Given the description of an element on the screen output the (x, y) to click on. 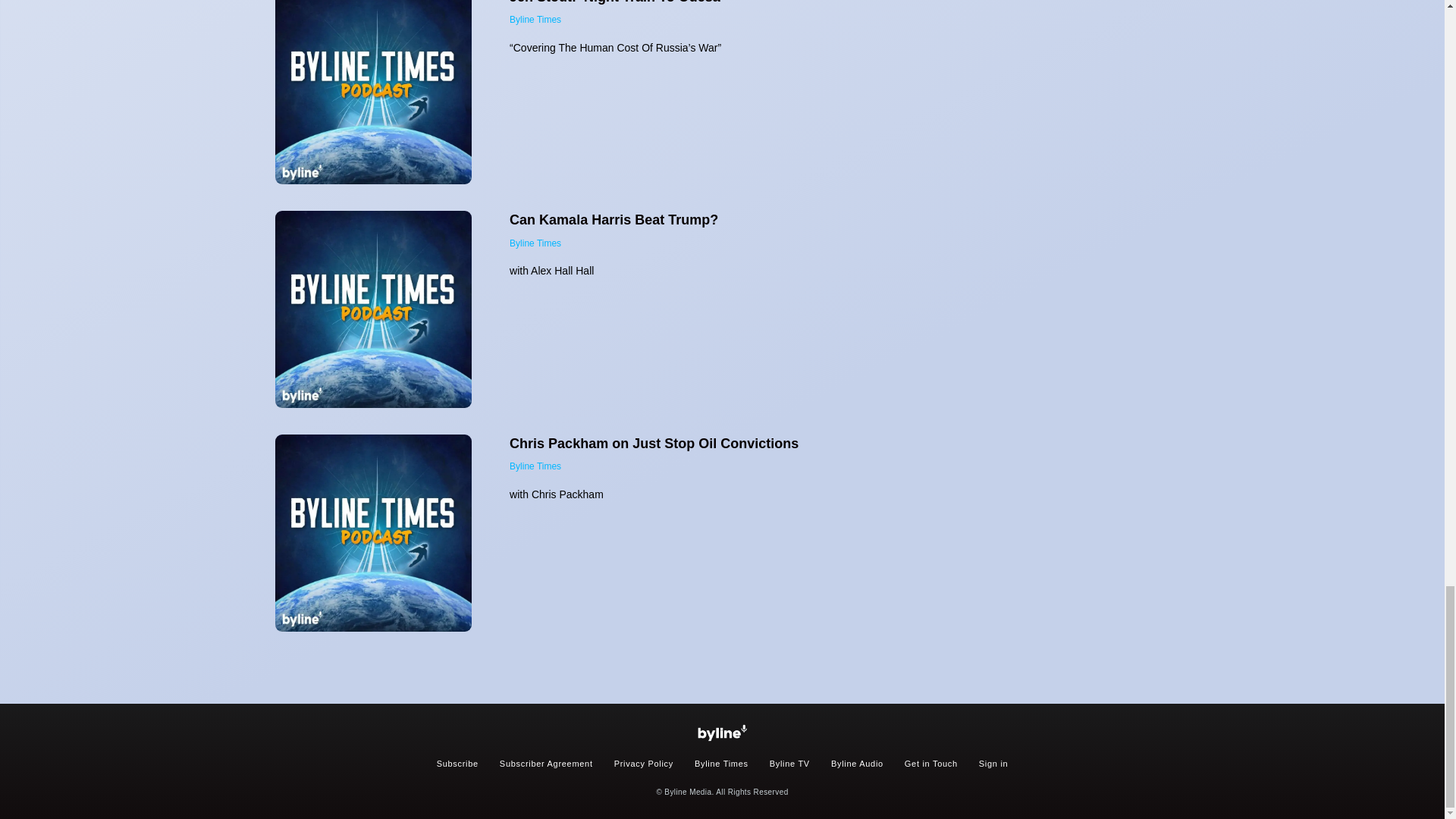
Byline Audio Logo (722, 732)
